Given the description of an element on the screen output the (x, y) to click on. 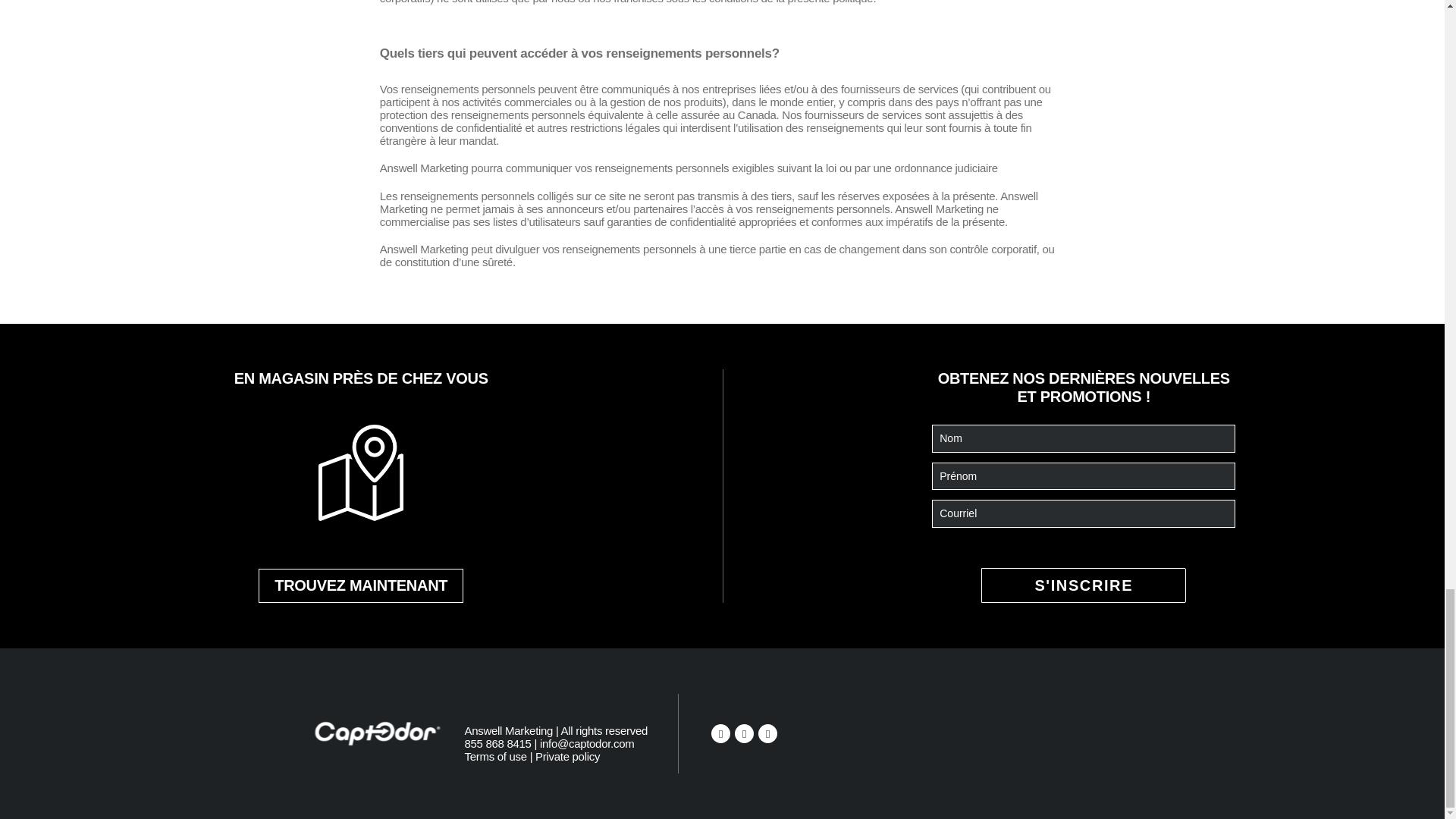
Facebook (720, 732)
S'INSCRIRE (1083, 585)
LinkedIn (767, 732)
Terms of use (494, 756)
Private policy (567, 756)
855 868 8415 (497, 743)
Twitter (744, 732)
TROUVEZ MAINTENANT (361, 585)
